Given the description of an element on the screen output the (x, y) to click on. 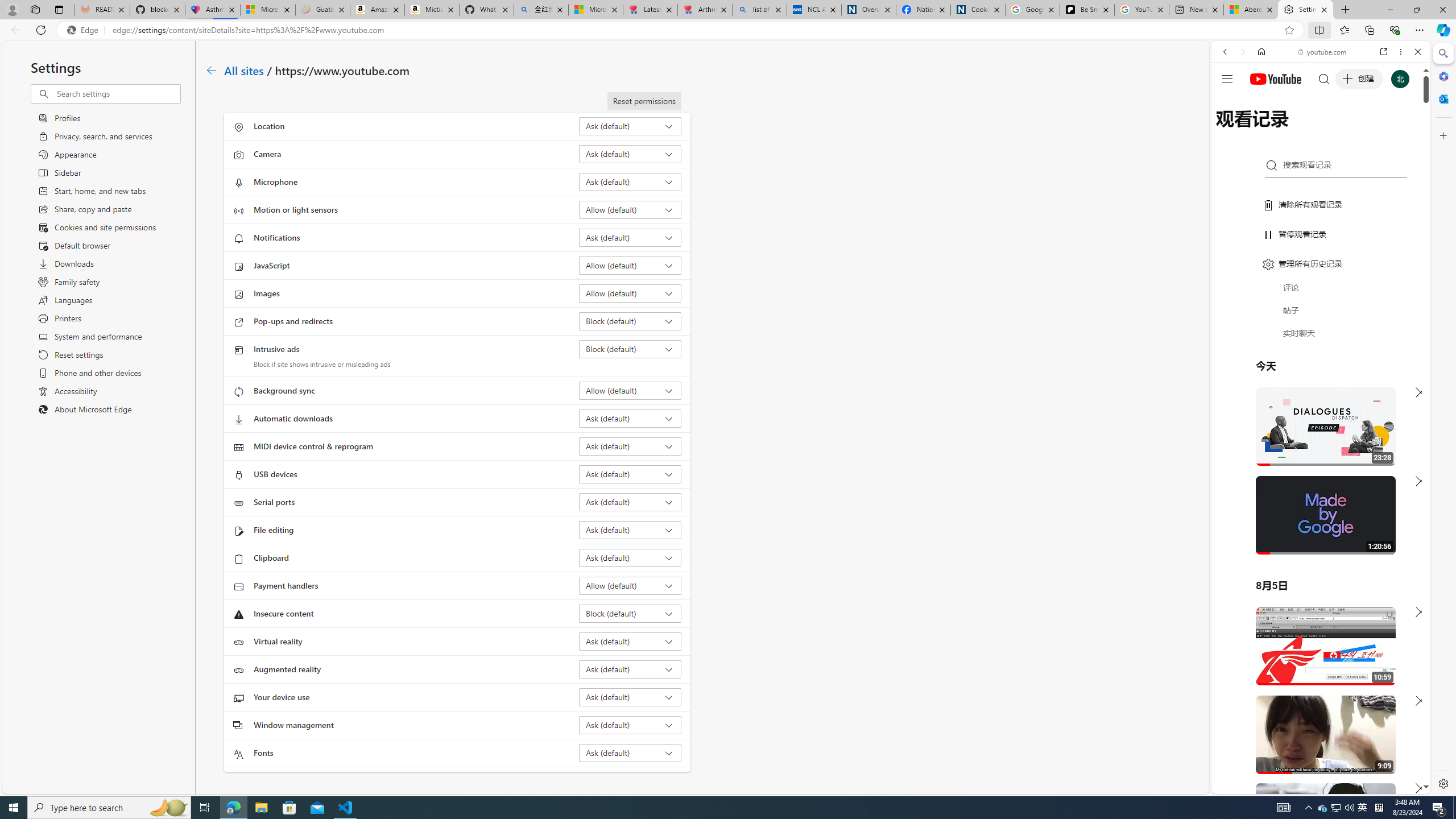
Search Filter, Search Tools (1350, 129)
Search Filter, IMAGES (1262, 129)
Aberdeen, Hong Kong SAR hourly forecast | Microsoft Weather (1250, 9)
Microsoft-Report a Concern to Bing (267, 9)
This site scope (1259, 102)
USB devices Ask (default) (630, 474)
Close Customize pane (1442, 135)
Show More Music (1390, 310)
